Given the description of an element on the screen output the (x, y) to click on. 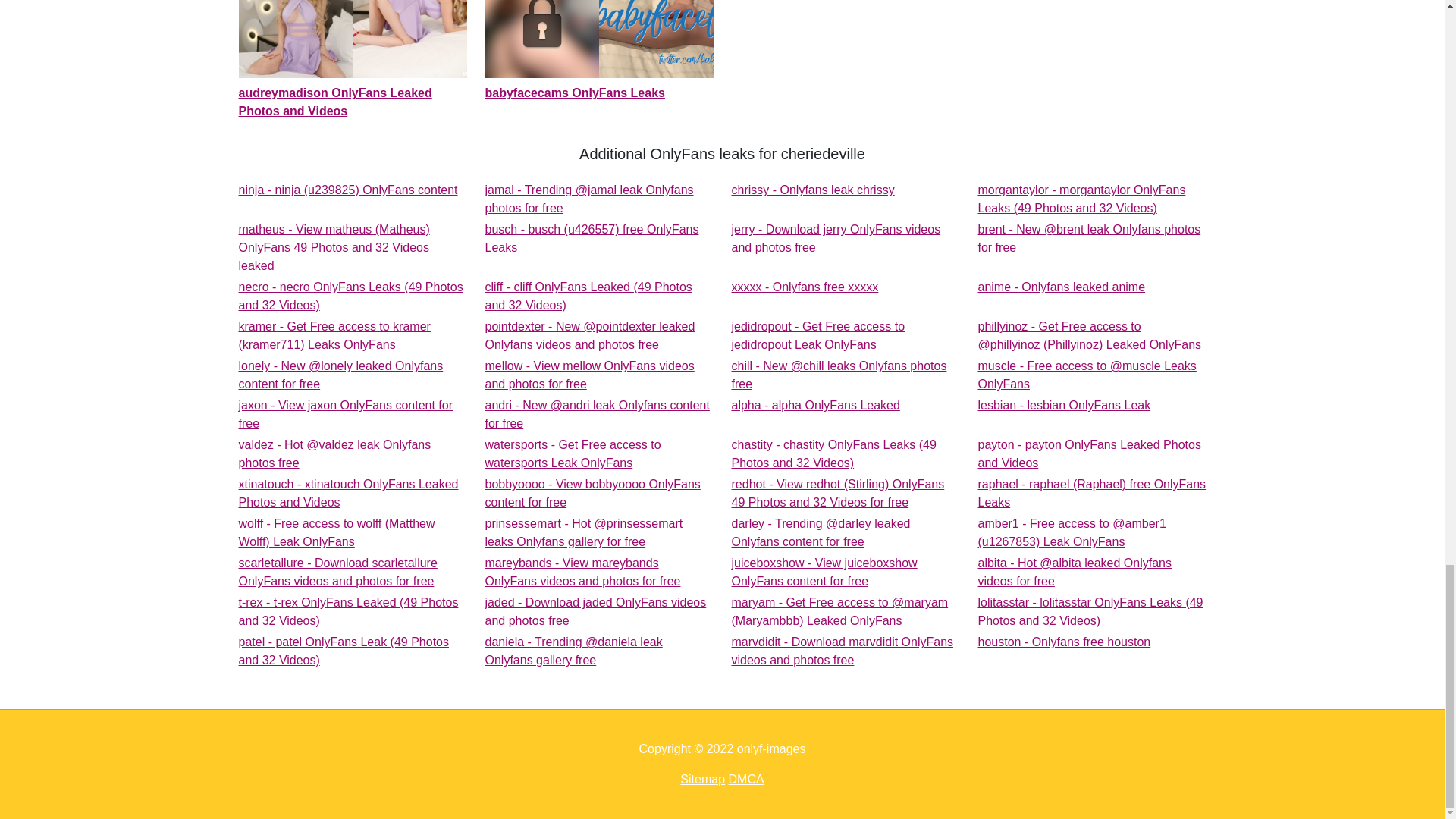
anime - Onlyfans leaked anime (589, 374)
babyfacecams OnlyFans Leaks (1061, 286)
audreymadison OnlyFans Leaked Photos and Videos (598, 51)
jerry - Download jerry OnlyFans videos and photos free (351, 60)
xxxxx - Onlyfans free xxxxx (811, 189)
